Given the description of an element on the screen output the (x, y) to click on. 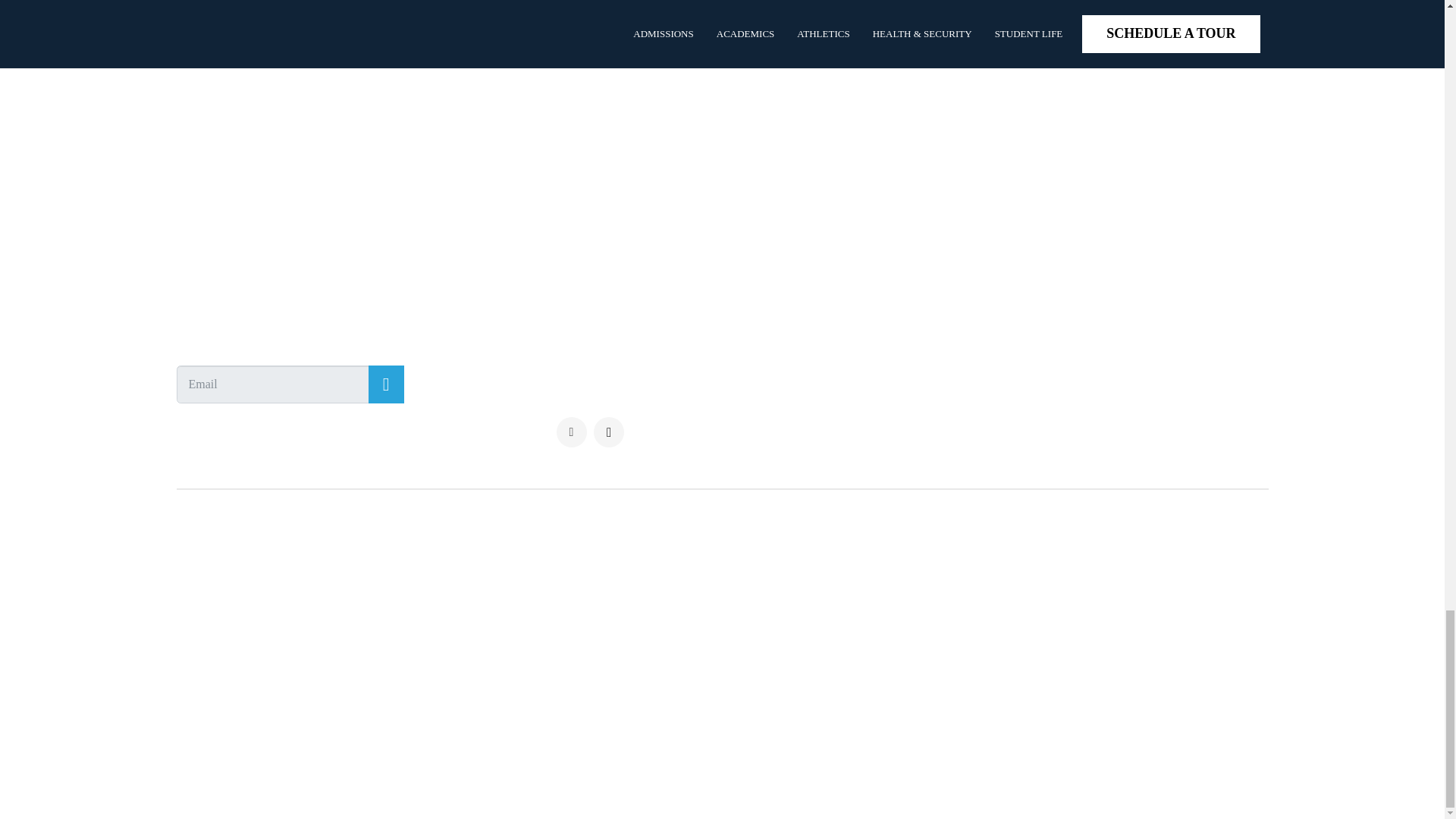
Instagram (609, 431)
Facebook (571, 431)
